Given the description of an element on the screen output the (x, y) to click on. 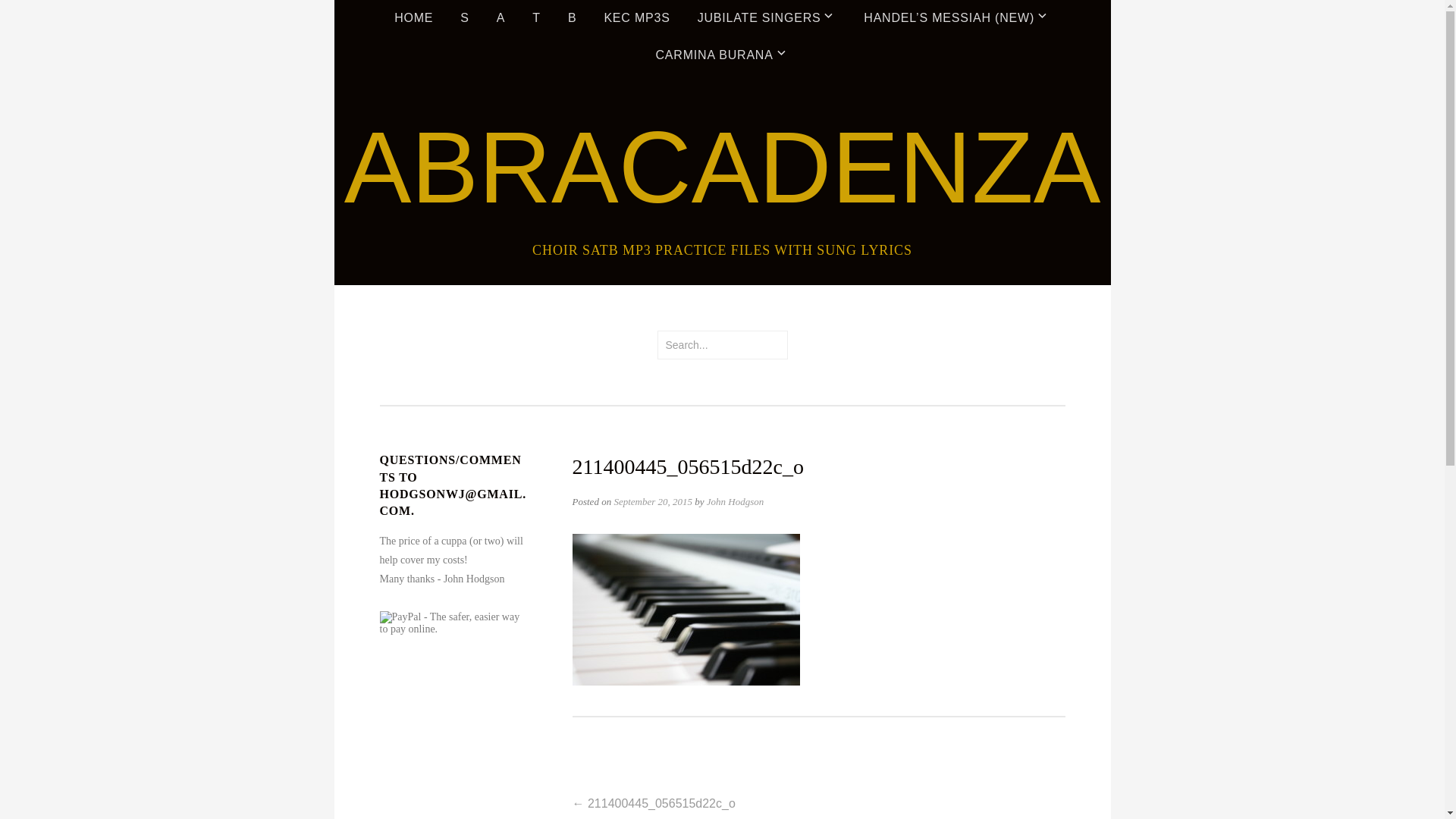
A Element type: text (500, 18)
Search for: Element type: hover (721, 344)
S Element type: text (464, 18)
T Element type: text (536, 18)
Search Element type: text (36, 14)
KEC MP3S Element type: text (636, 18)
CARMINA BURANA Element type: text (721, 55)
ABRACADENZA Element type: text (722, 167)
John Hodgson Element type: text (734, 501)
HOME Element type: text (413, 18)
B Element type: text (571, 18)
September 20, 2015 Element type: text (652, 501)
JUBILATE SINGERS Element type: text (767, 18)
